Given the description of an element on the screen output the (x, y) to click on. 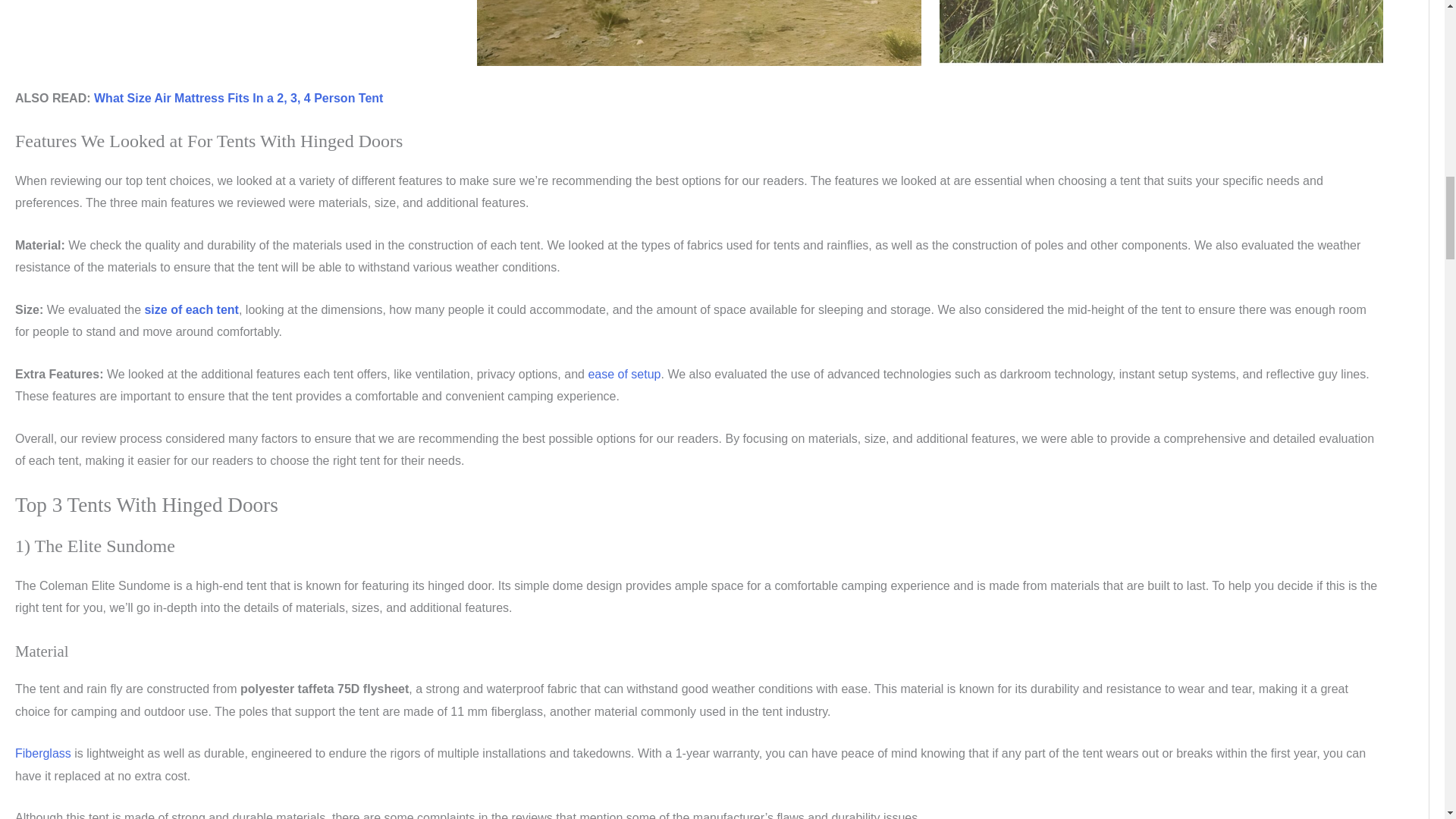
ease of setup (624, 373)
Fiberglass (42, 753)
What Size Air Mattress Fits In a 2, 3, 4 Person Tent (238, 97)
size of each tent (191, 309)
